Given the description of an element on the screen output the (x, y) to click on. 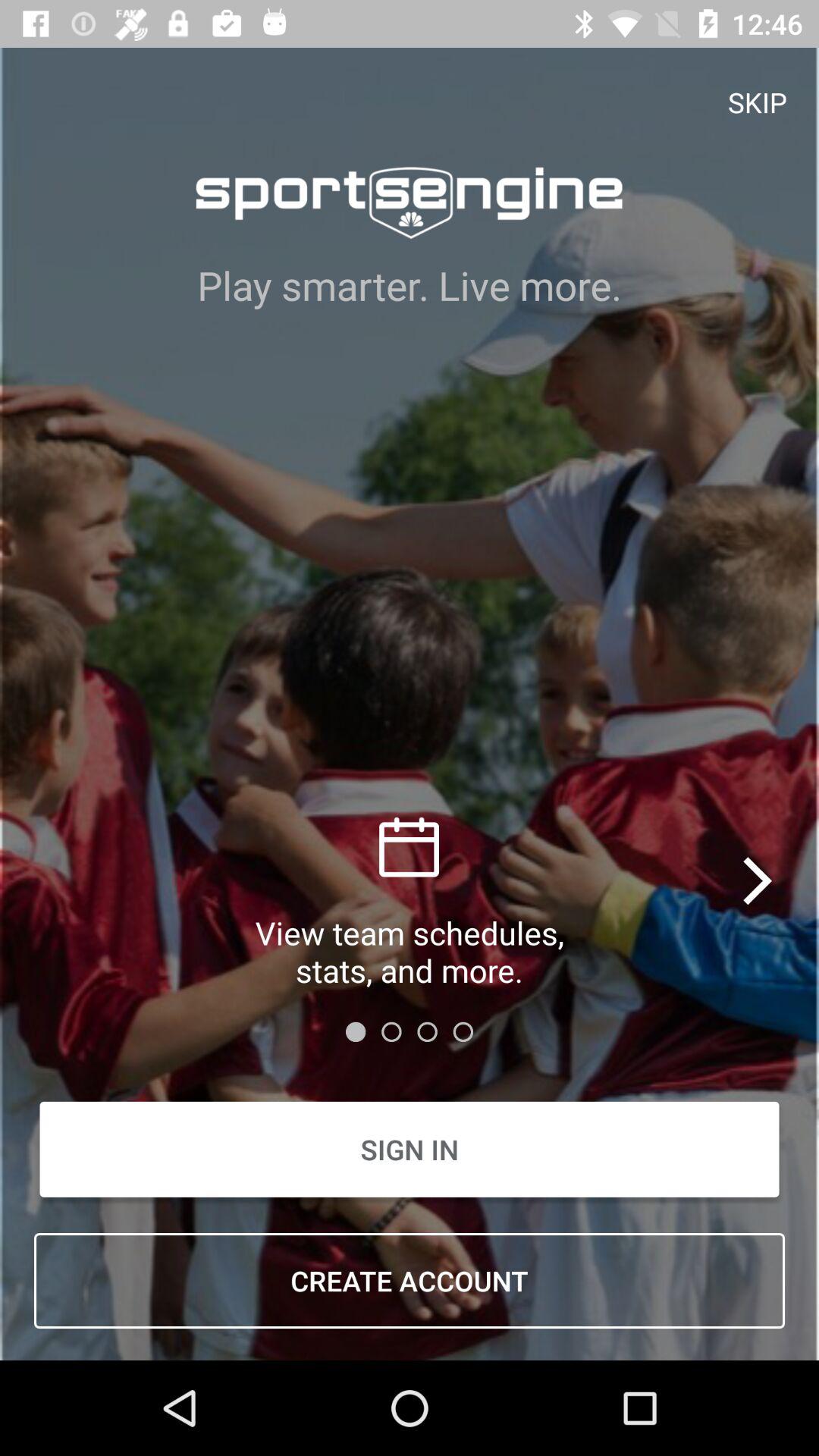
press the item below the sign in icon (409, 1280)
